Given the description of an element on the screen output the (x, y) to click on. 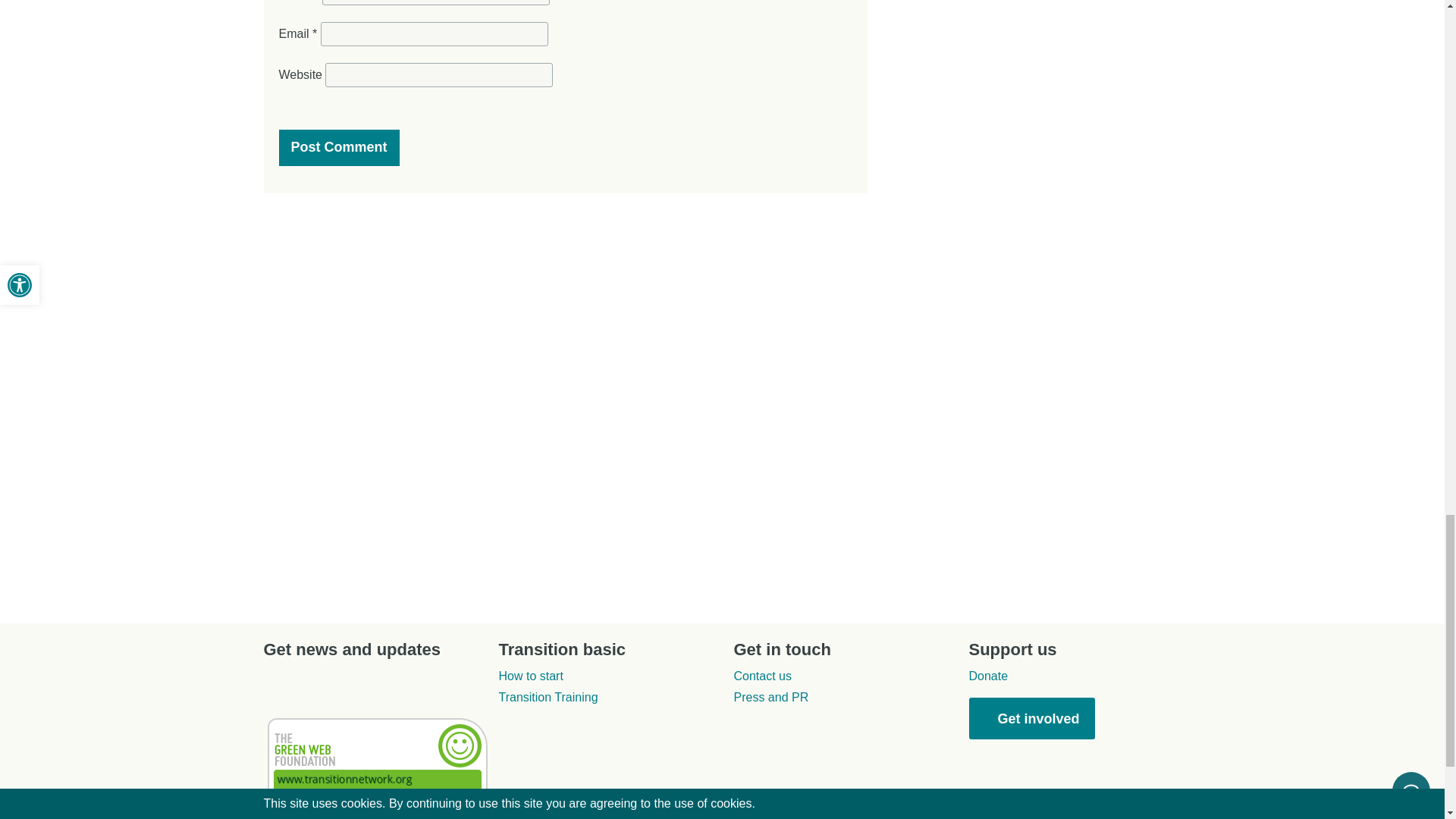
Post Comment (338, 147)
